Given the description of an element on the screen output the (x, y) to click on. 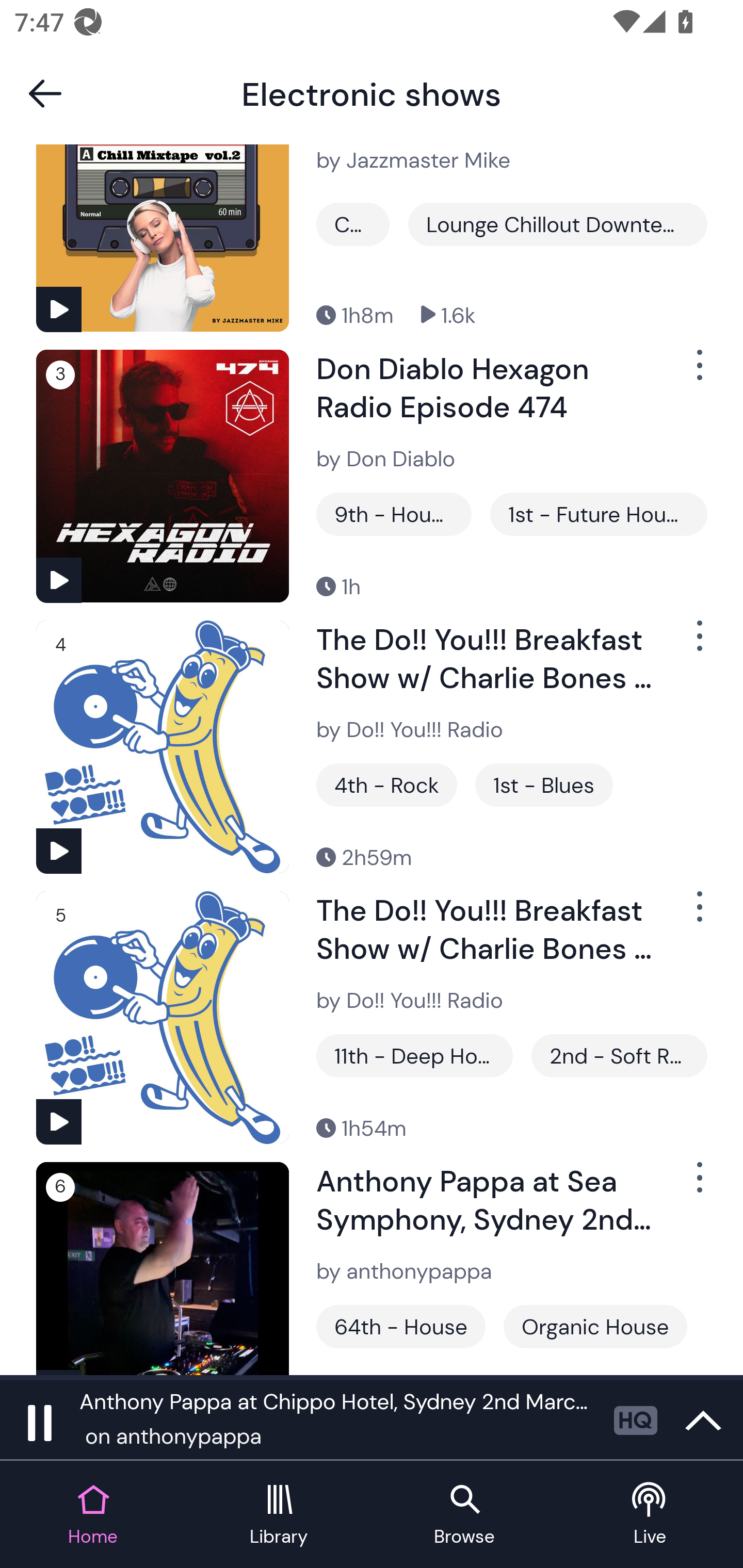
Chill (352, 224)
Lounge Chillout Downtempo (556, 224)
Show Options Menu Button (697, 372)
9th - House (393, 514)
1st - Future House (598, 514)
Show Options Menu Button (697, 643)
4th - Rock (386, 784)
1st - Blues (543, 784)
Show Options Menu Button (697, 913)
11th - Deep House (414, 1055)
2nd - Soft Rock (618, 1055)
Show Options Menu Button (697, 1184)
64th - House (400, 1326)
Organic House (595, 1326)
Home tab Home (92, 1515)
Library tab Library (278, 1515)
Browse tab Browse (464, 1515)
Live tab Live (650, 1515)
